Given the description of an element on the screen output the (x, y) to click on. 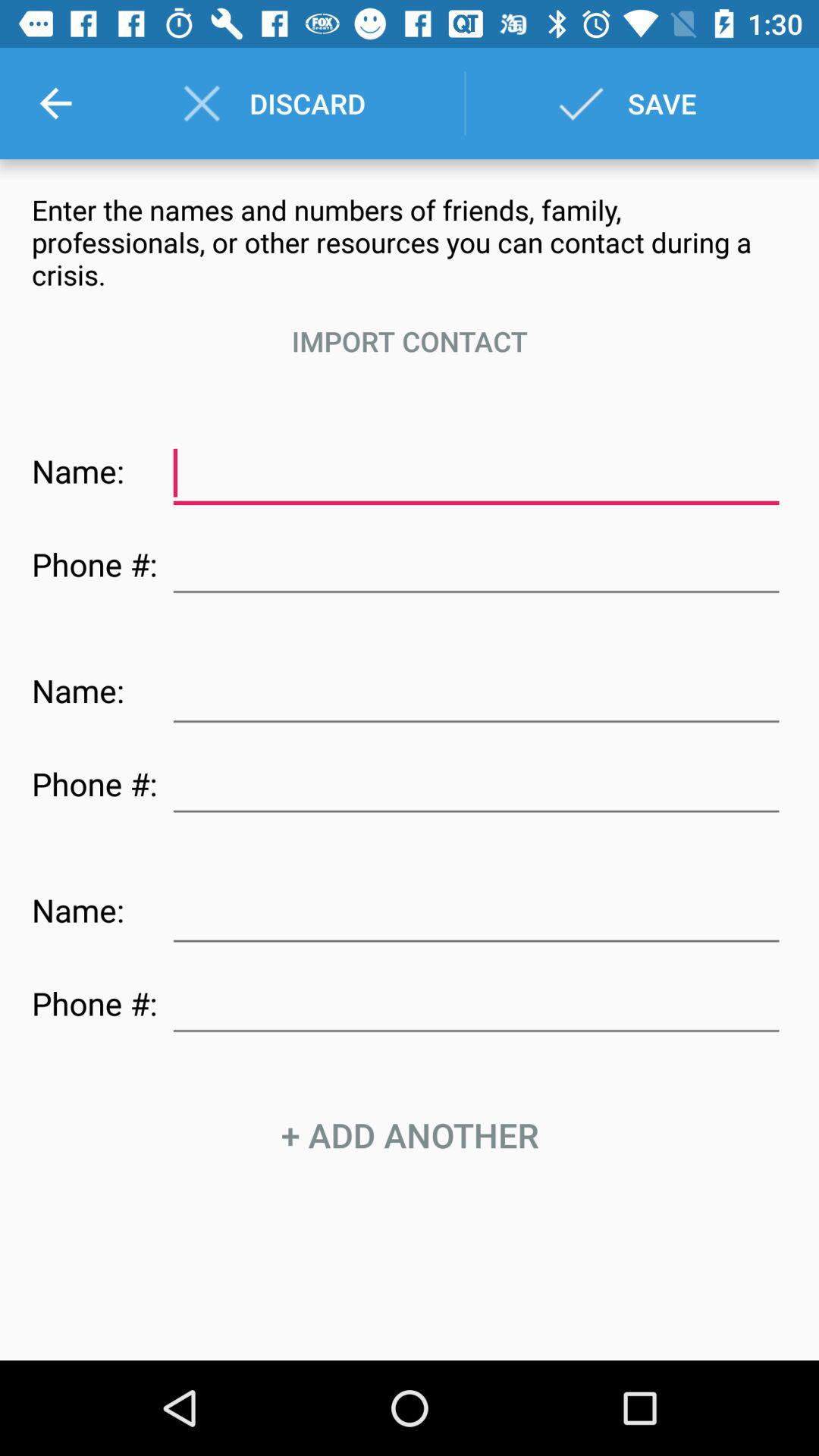
turn off + add another (409, 1135)
